Given the description of an element on the screen output the (x, y) to click on. 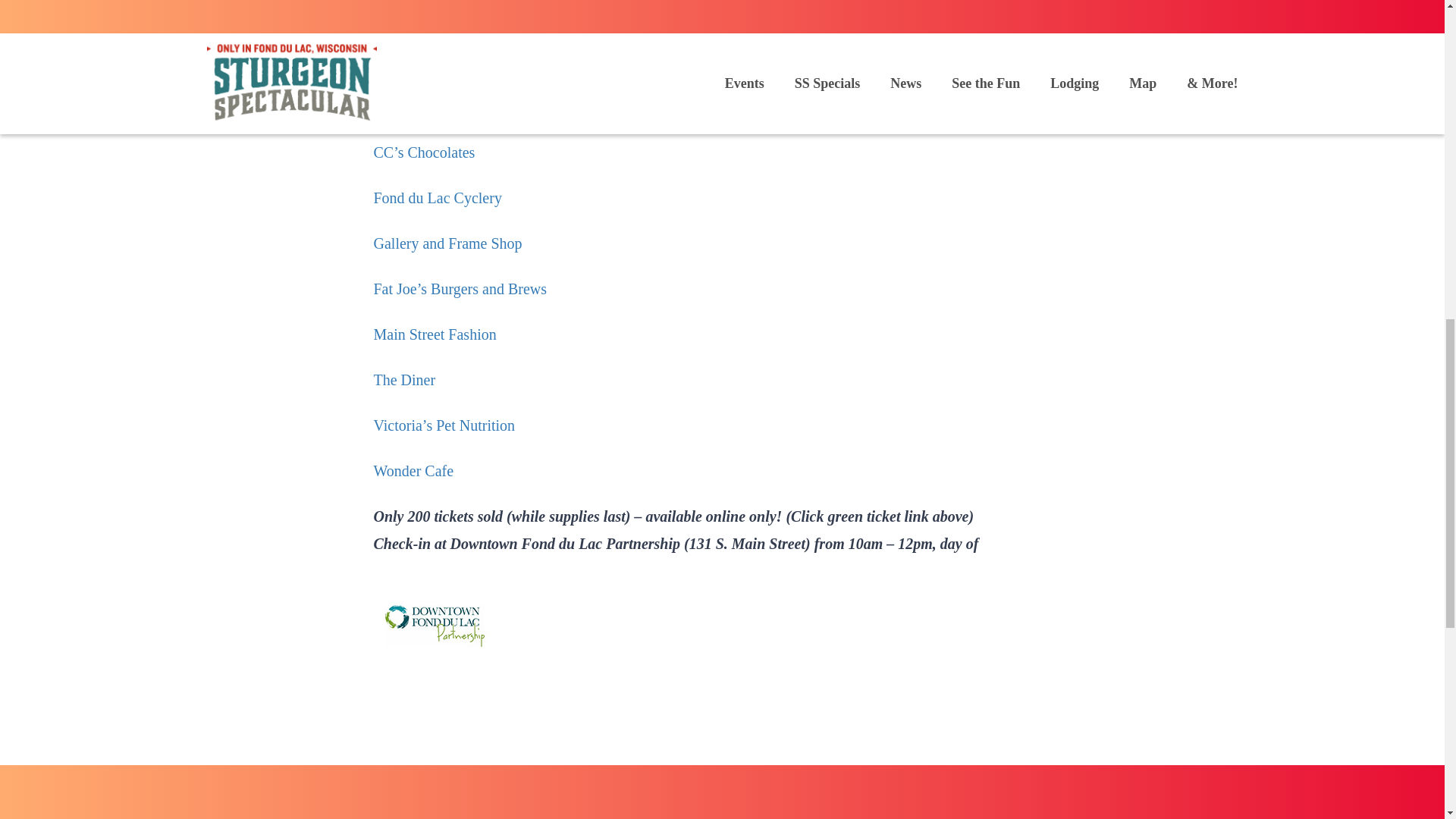
The Diner (403, 379)
Gallery and Frame Shop (446, 243)
Main Street Fashion (434, 334)
Fond du Lac Cyclery (436, 197)
